Given the description of an element on the screen output the (x, y) to click on. 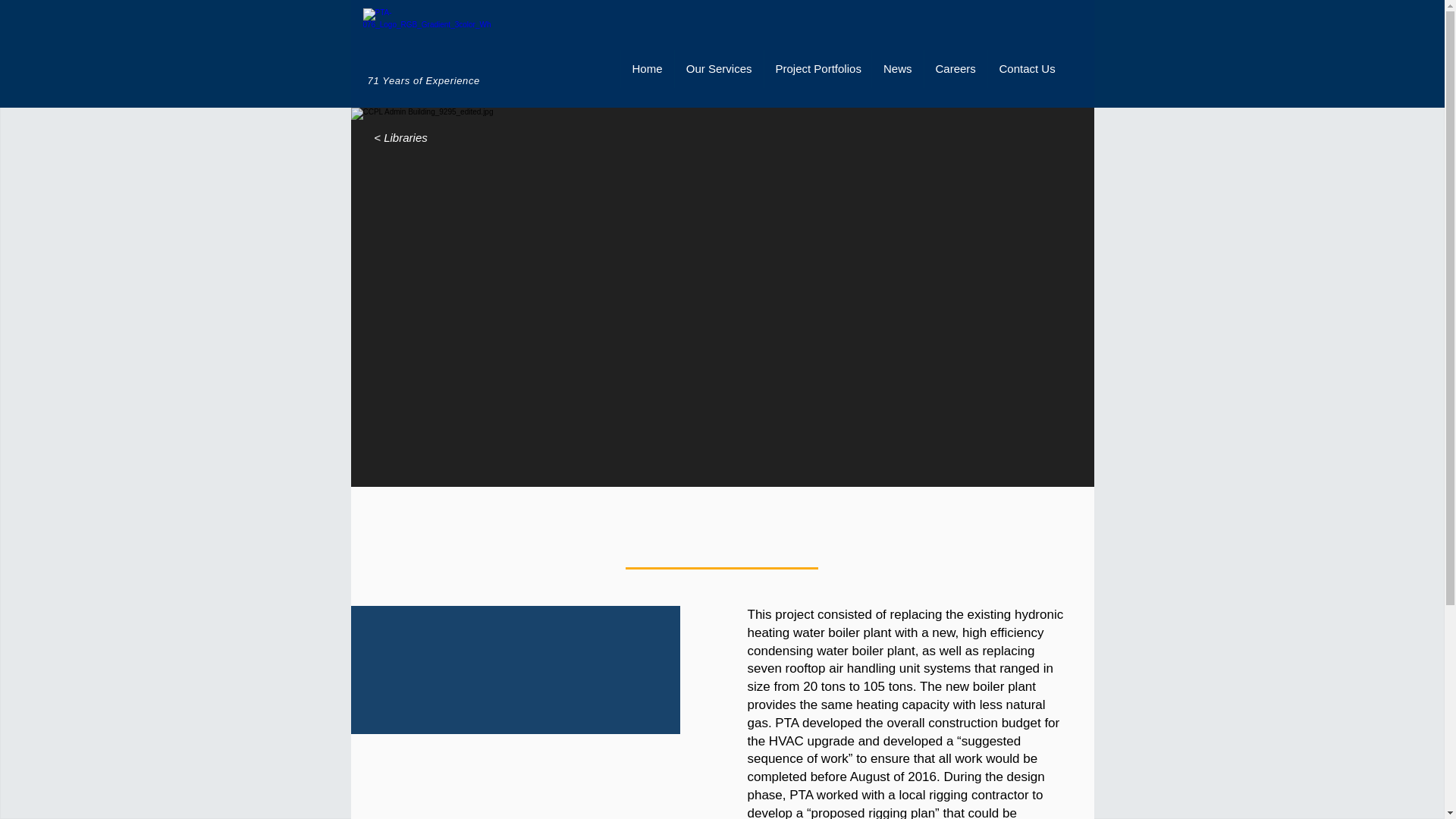
News (896, 68)
Contact Us (1027, 68)
Our Services (717, 68)
Careers (955, 68)
Home (647, 68)
